Given the description of an element on the screen output the (x, y) to click on. 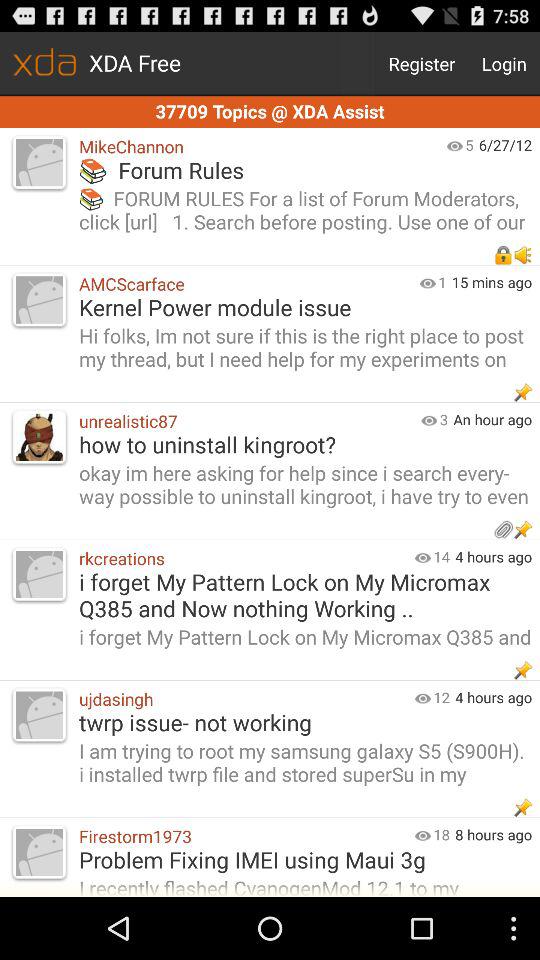
tap the 37709 topics xda (270, 111)
